Given the description of an element on the screen output the (x, y) to click on. 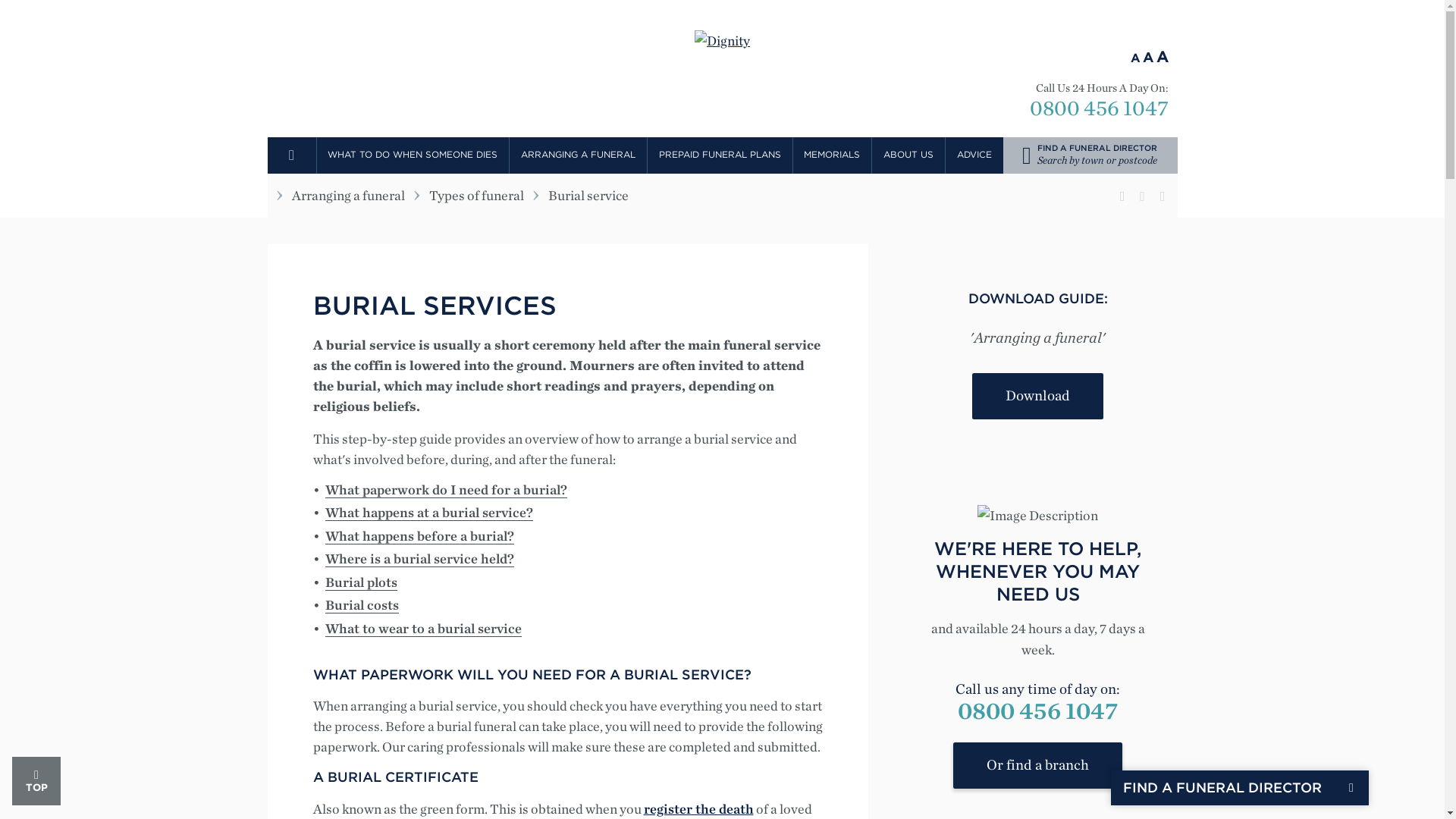
0800 456 1047 (1099, 107)
Burial service (445, 489)
How to register a death (697, 808)
Burial service (422, 628)
What happens before a burial? (418, 535)
Burial service (428, 512)
Burial service (360, 582)
Where is a burial service held? (418, 558)
WHAT TO DO WHEN SOMEONE DIES (412, 154)
Burial service (360, 605)
